Given the description of an element on the screen output the (x, y) to click on. 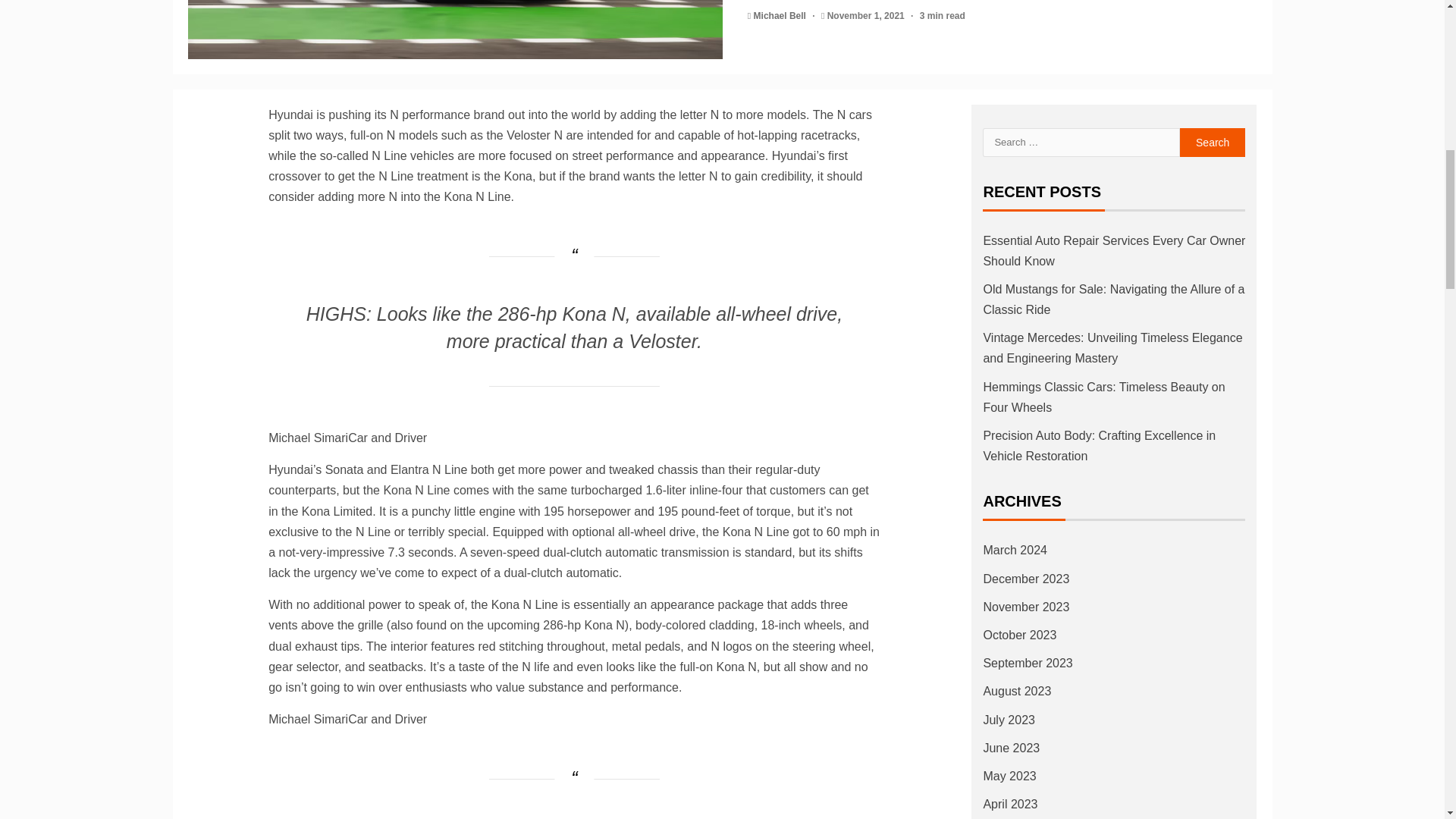
2022 Hyundai Kona N Line Puts Show Ahead of Go (454, 29)
Search (1212, 141)
Search (1212, 141)
Michael Bell (781, 15)
